Given the description of an element on the screen output the (x, y) to click on. 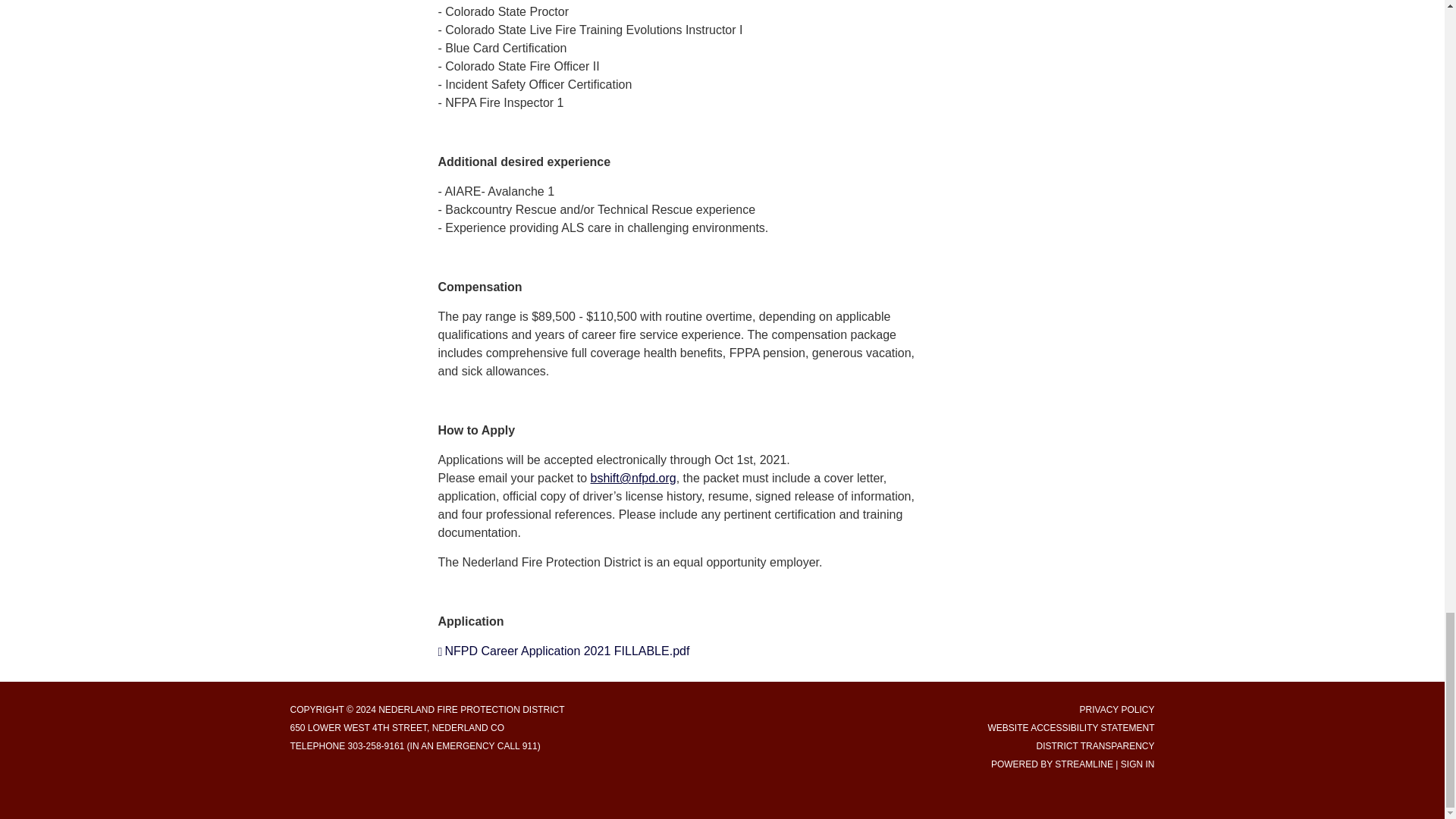
Streamline: Technology for Special Districts (1083, 764)
Special District Transparency Report (1094, 746)
